Given the description of an element on the screen output the (x, y) to click on. 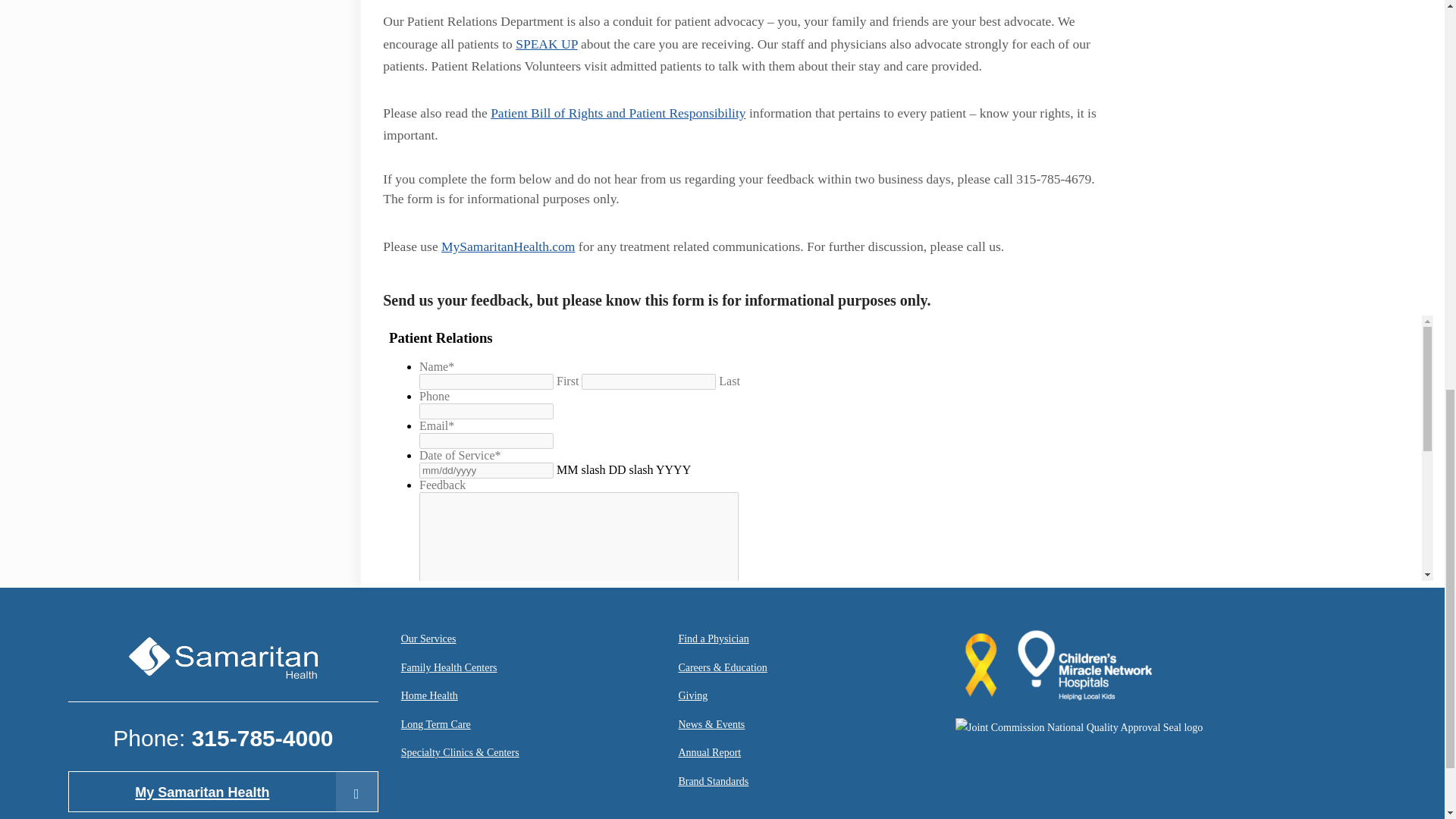
Click here to view Family Health Centers (449, 669)
Click here to view Long Term Care (435, 726)
Click here to view Annual Report (709, 754)
Click here to view Our Services (429, 640)
Click here to view Home Health (429, 697)
Click here to view Find a Physician (713, 640)
Click here to view Giving (692, 697)
Click here to view Brand Standards (713, 783)
